Given the description of an element on the screen output the (x, y) to click on. 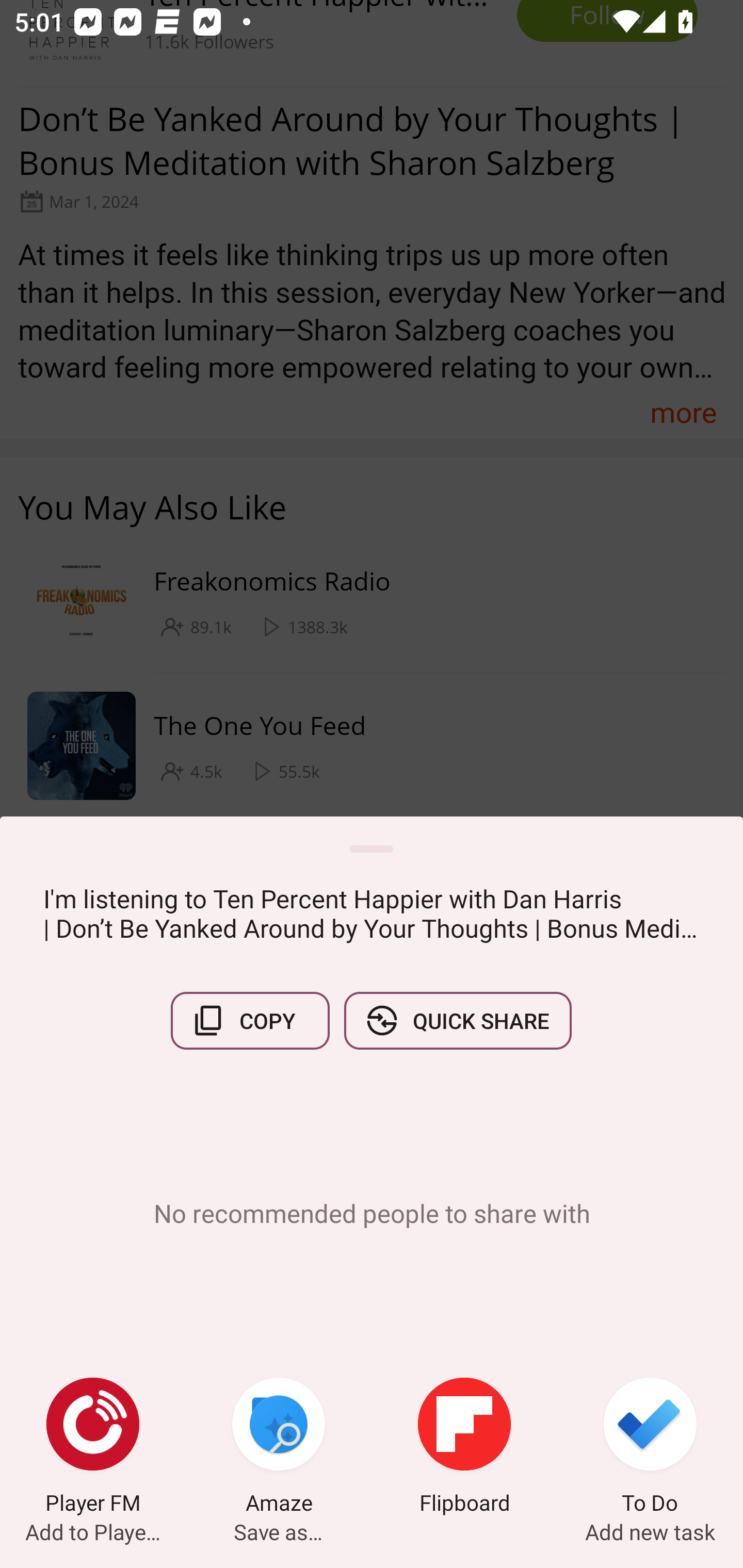
COPY (249, 1020)
QUICK SHARE (457, 1020)
Player FM Add to Player FM (92, 1448)
Amaze Save as… (278, 1448)
Flipboard (464, 1448)
To Do Add new task (650, 1448)
